Given the description of an element on the screen output the (x, y) to click on. 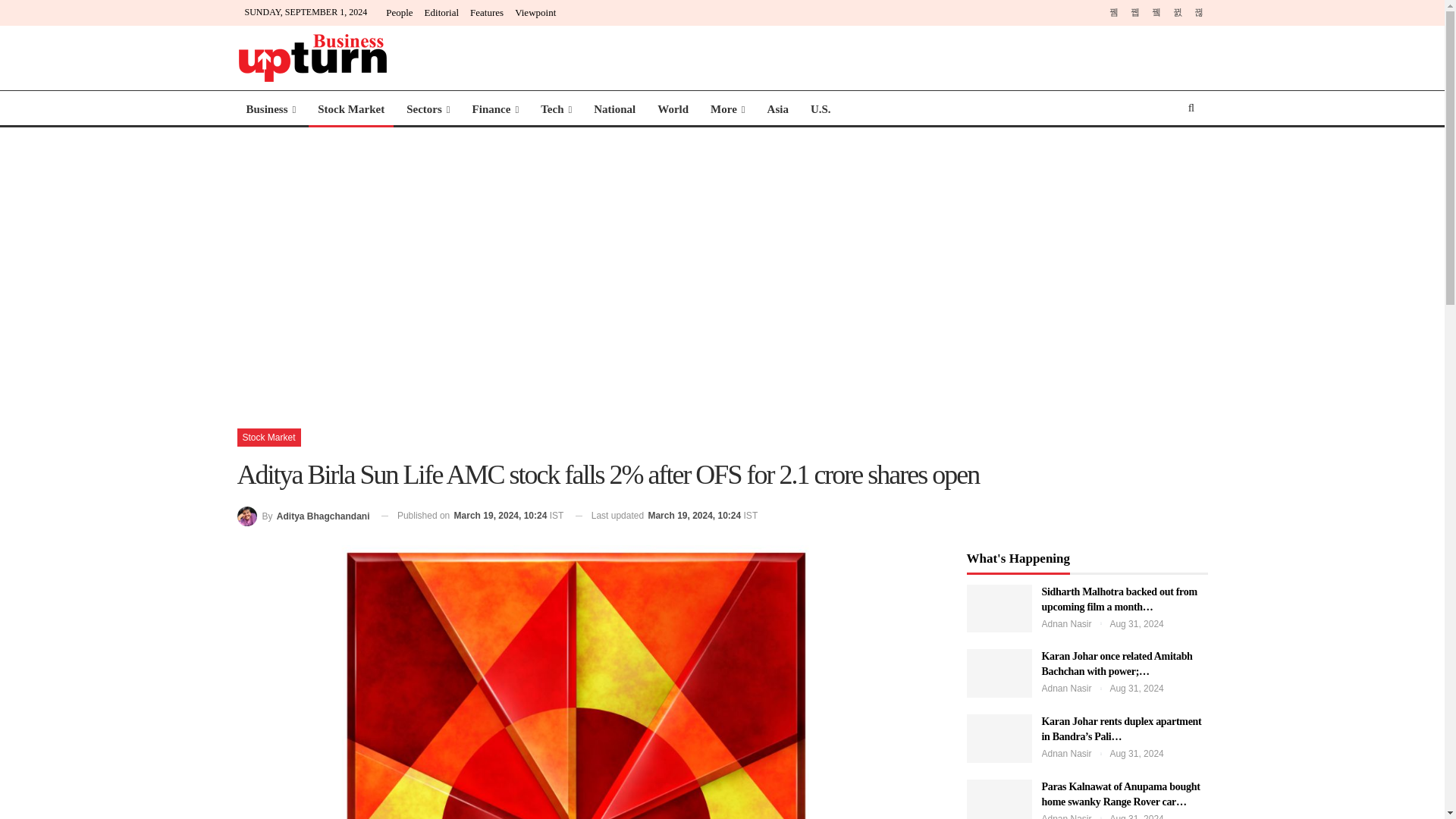
People (398, 12)
Stock Market (350, 108)
Browse Author Articles (302, 516)
Editorial (442, 12)
Viewpoint (535, 12)
Features (486, 12)
Sectors (427, 108)
Business (269, 108)
Finance (495, 108)
